Given the description of an element on the screen output the (x, y) to click on. 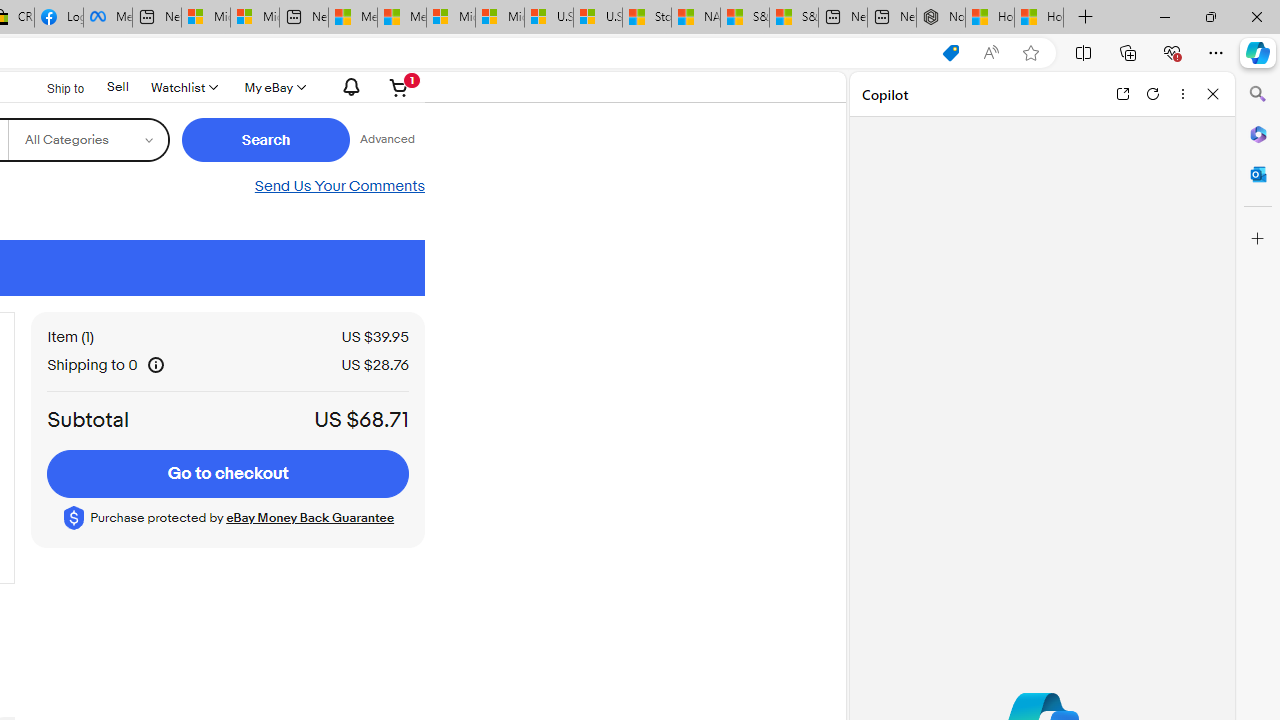
Customize (1258, 239)
Watchlist (183, 87)
Your shopping cart contains 1 item (399, 87)
S&P 500, Nasdaq end lower, weighed by Nvidia dip | Watch (793, 17)
WatchlistExpand Watch List (183, 87)
Send Us Your Comments - opens in new window or tab (338, 186)
AutomationID: gh-eb-Alerts (349, 87)
Sell (117, 86)
